Given the description of an element on the screen output the (x, y) to click on. 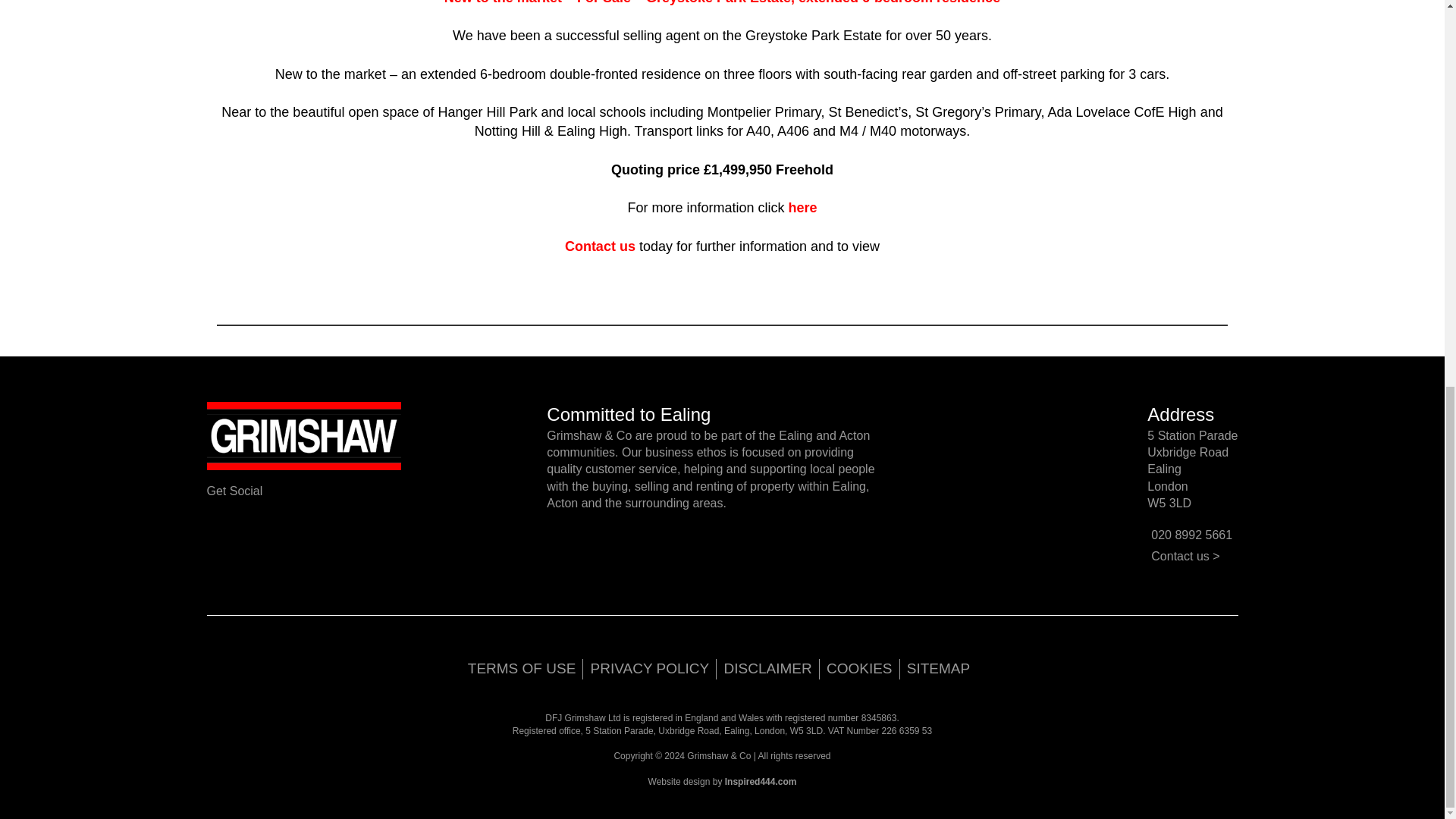
SITEMAP (938, 668)
020 8992 5661 (1191, 534)
PRIVACY POLICY (650, 668)
Contact us (599, 246)
here (800, 207)
Inspired444.com (760, 781)
COOKIES (859, 668)
DISCLAIMER (767, 668)
TERMS OF USE (521, 668)
